Given the description of an element on the screen output the (x, y) to click on. 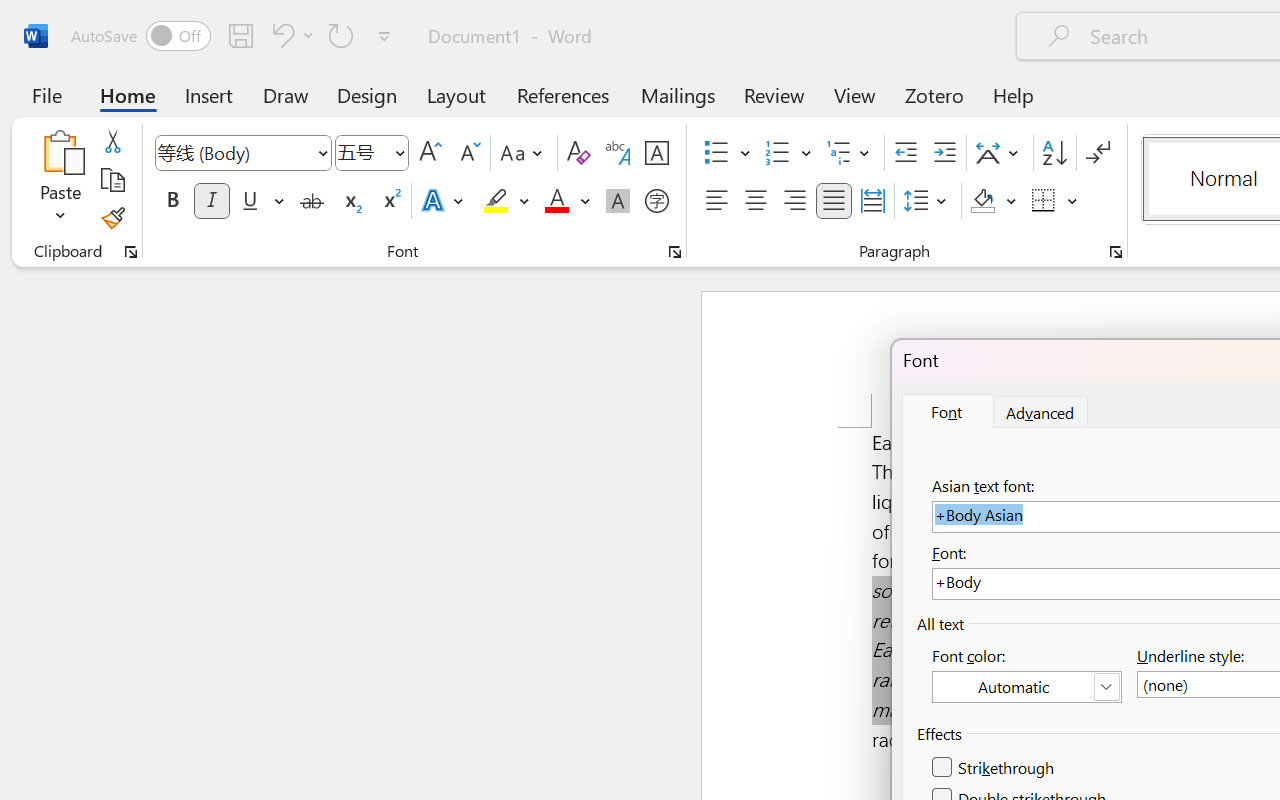
Change Case (524, 153)
Font Color (567, 201)
Clear Formatting (578, 153)
Show/Hide Editing Marks (1098, 153)
Font... (675, 252)
Shrink Font (468, 153)
Character Border (656, 153)
Align Left (716, 201)
Enclose Characters... (656, 201)
